Given the description of an element on the screen output the (x, y) to click on. 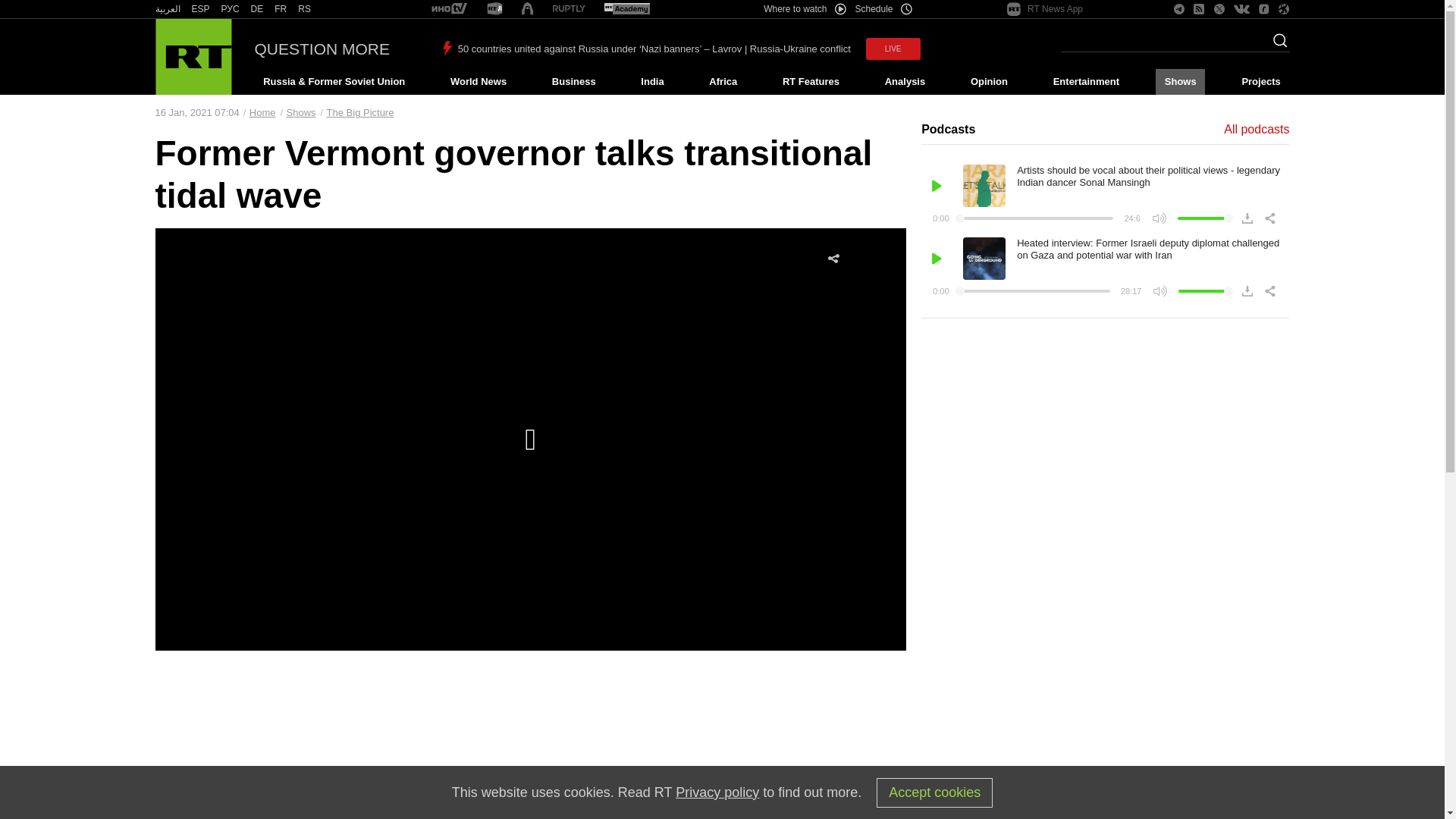
Search (1276, 44)
RT  (199, 9)
RT  (256, 9)
RT Features (810, 81)
Entertainment (1085, 81)
Analysis (905, 81)
RS (304, 9)
Projects (1261, 81)
Shows (1180, 81)
RT  (166, 9)
